Given the description of an element on the screen output the (x, y) to click on. 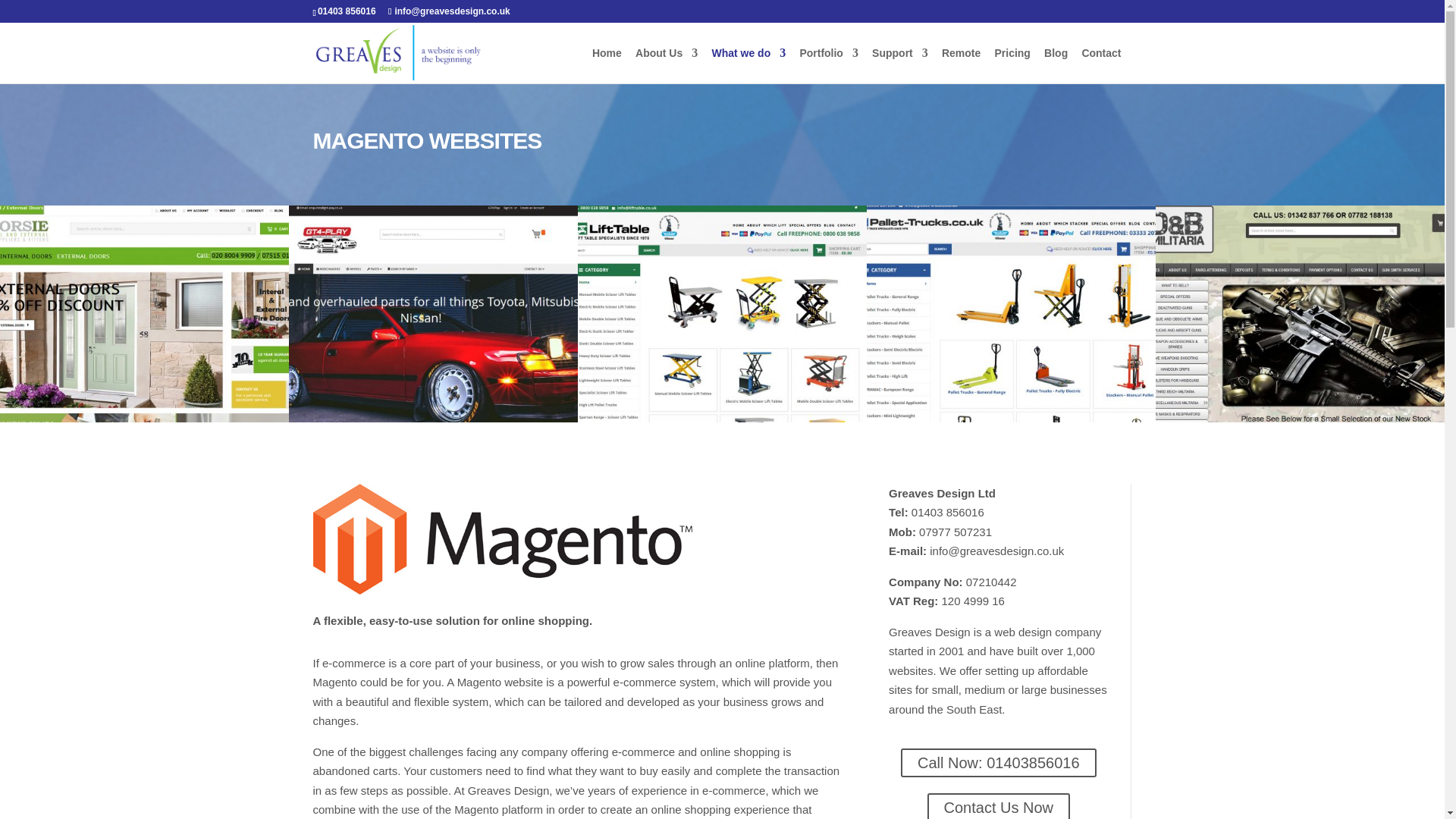
About Us (665, 65)
About Us (665, 65)
What we do (748, 65)
What we do (748, 65)
